Given the description of an element on the screen output the (x, y) to click on. 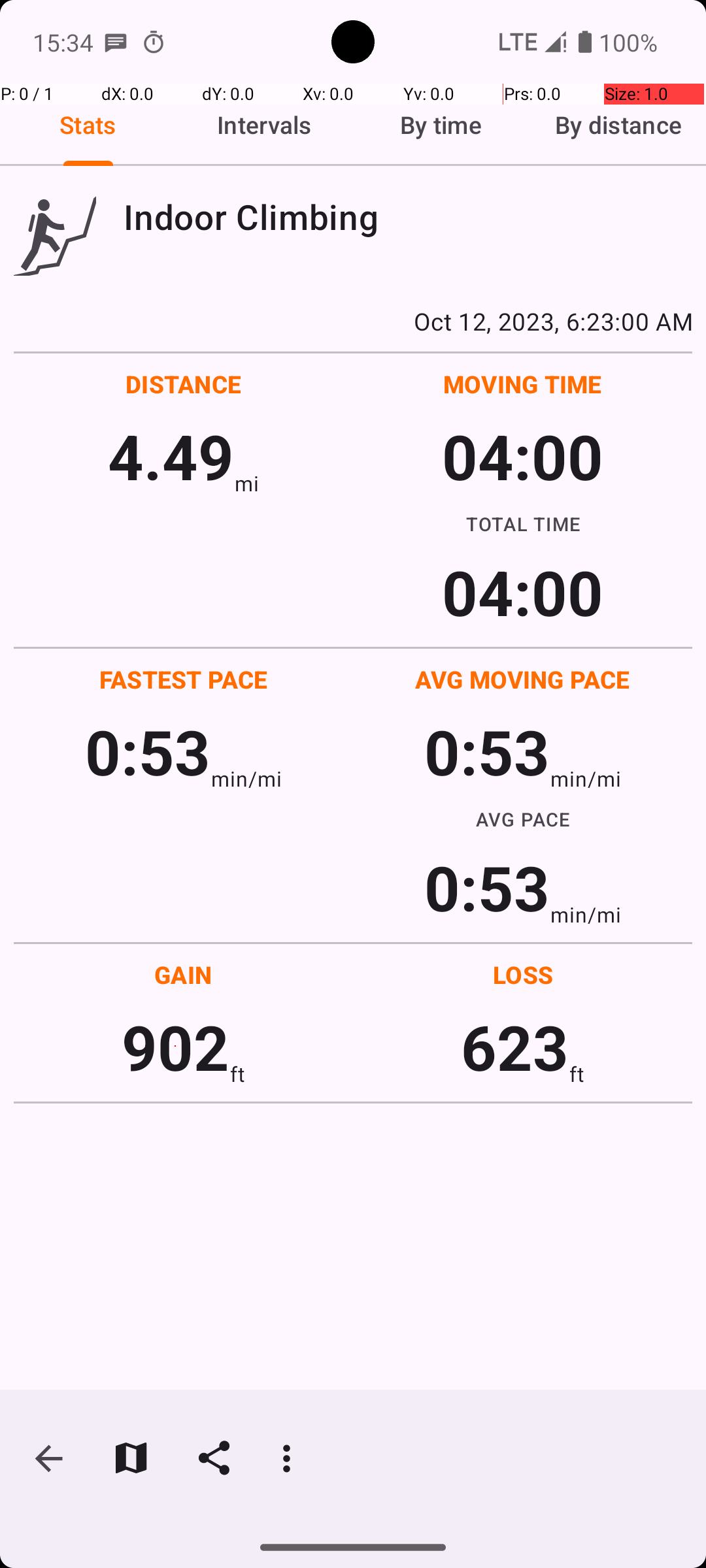
Indoor Climbing Element type: android.widget.TextView (407, 216)
Oct 12, 2023, 6:23:00 AM Element type: android.widget.TextView (352, 320)
4.49 Element type: android.widget.TextView (170, 455)
04:00 Element type: android.widget.TextView (522, 455)
0:53 Element type: android.widget.TextView (147, 750)
902 Element type: android.widget.TextView (175, 1045)
623 Element type: android.widget.TextView (514, 1045)
